Given the description of an element on the screen output the (x, y) to click on. 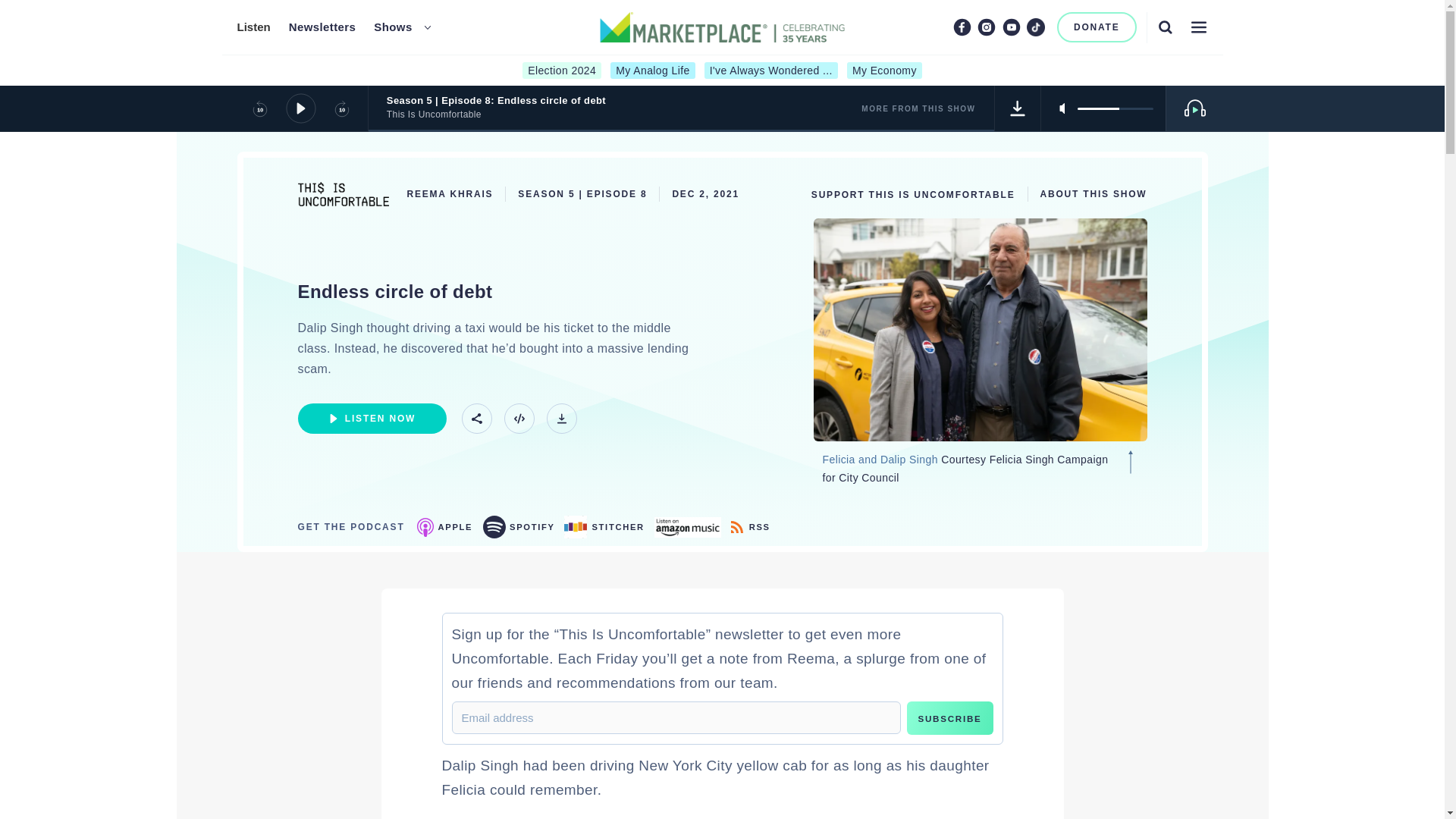
Listen Now (371, 418)
Facebook (962, 27)
Shows (393, 26)
Search (1164, 27)
volume (1115, 108)
Youtube (1011, 27)
Newsletters (322, 27)
Menu (1198, 27)
Listen (252, 26)
Download Track (561, 418)
Instagram (985, 27)
Download Track (1017, 108)
5 (1115, 108)
TikTok (1035, 27)
